Given the description of an element on the screen output the (x, y) to click on. 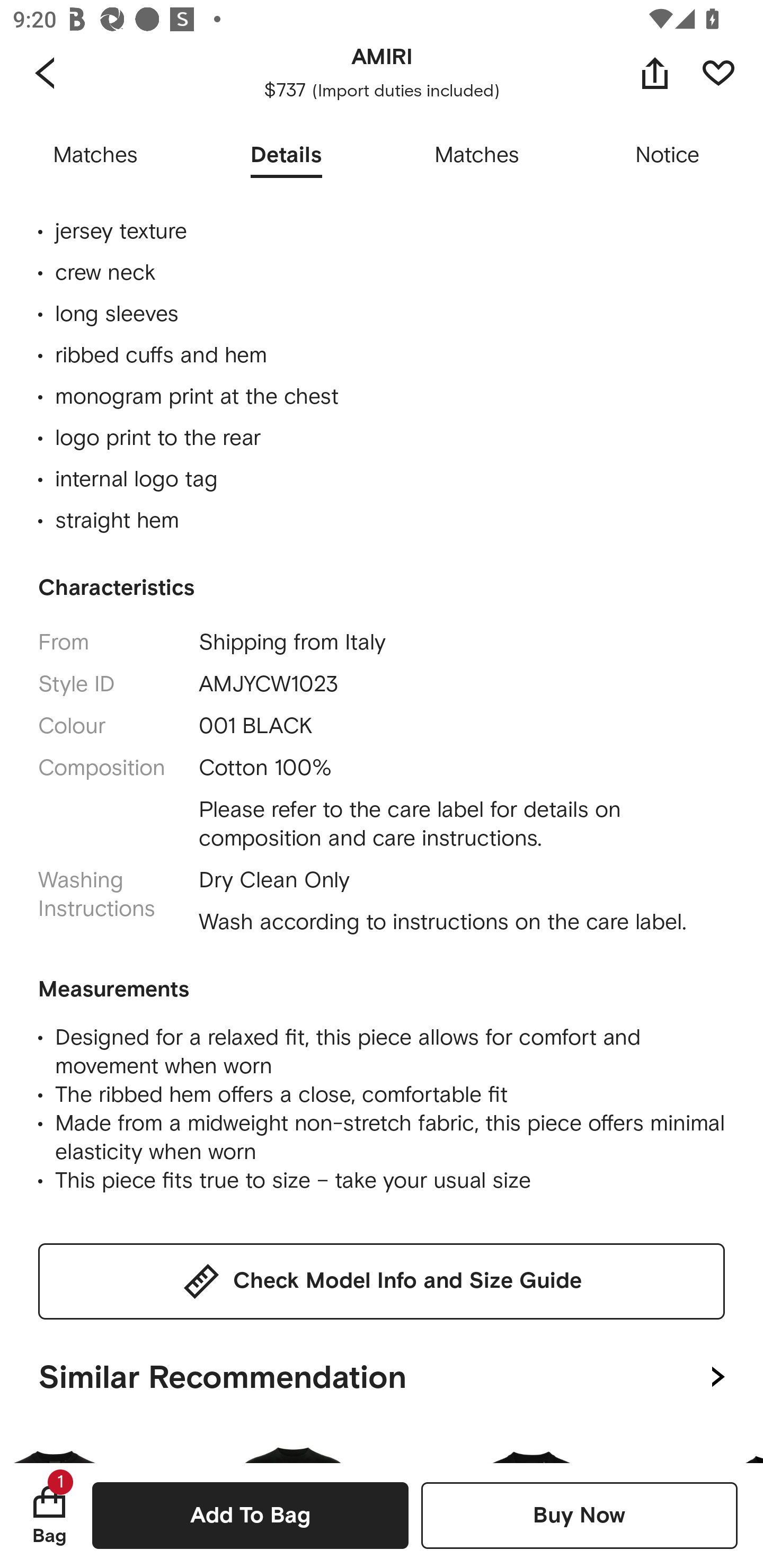
Matches (95, 155)
Matches (476, 155)
Notice (667, 155)
 Check Model Info and Size Guide (381, 1281)
Similar Recommendation (381, 1373)
Bag 1 (49, 1515)
Add To Bag (250, 1515)
Buy Now (579, 1515)
